Given the description of an element on the screen output the (x, y) to click on. 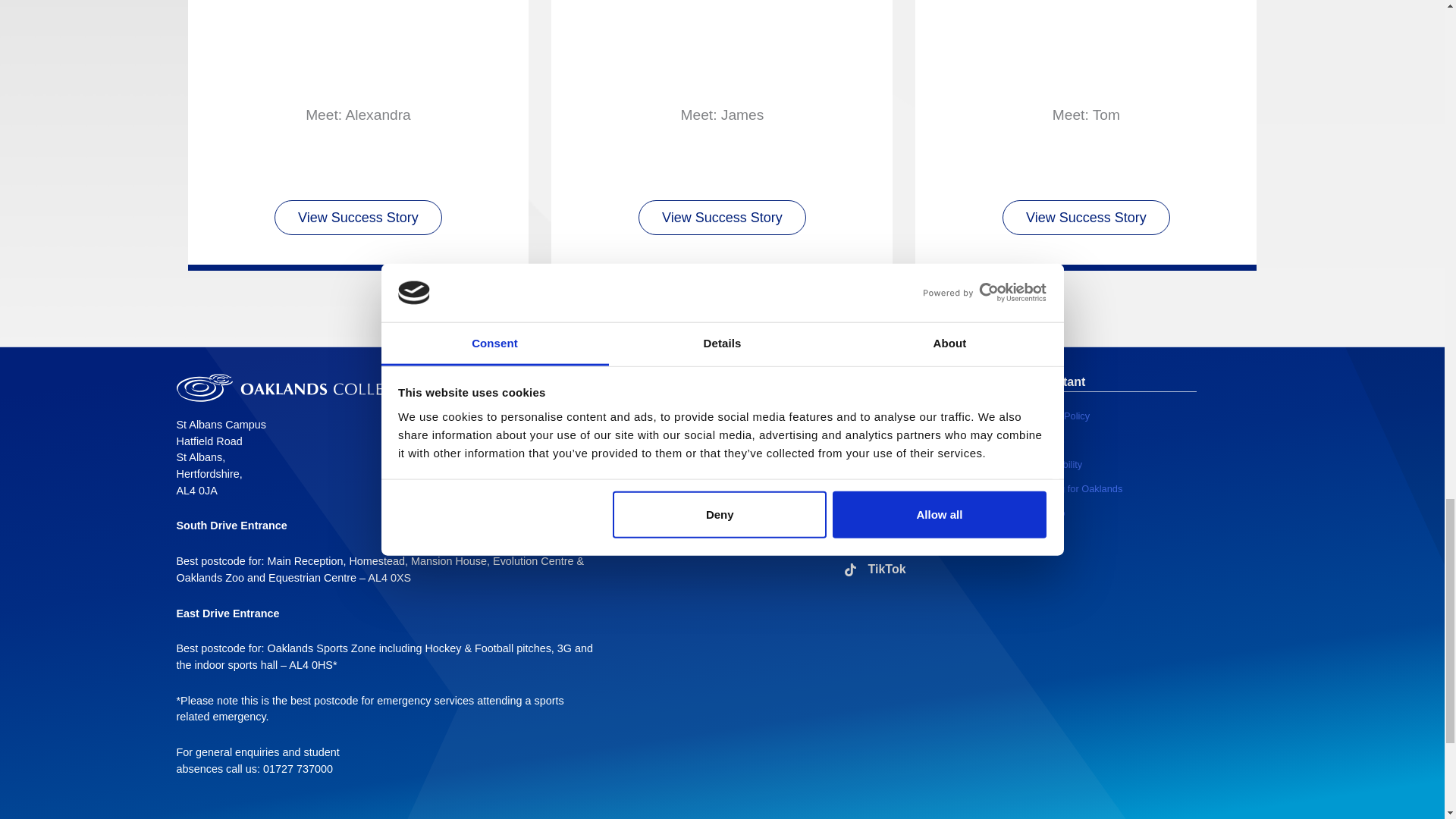
Meet: Alexandra (358, 52)
